Given the description of an element on the screen output the (x, y) to click on. 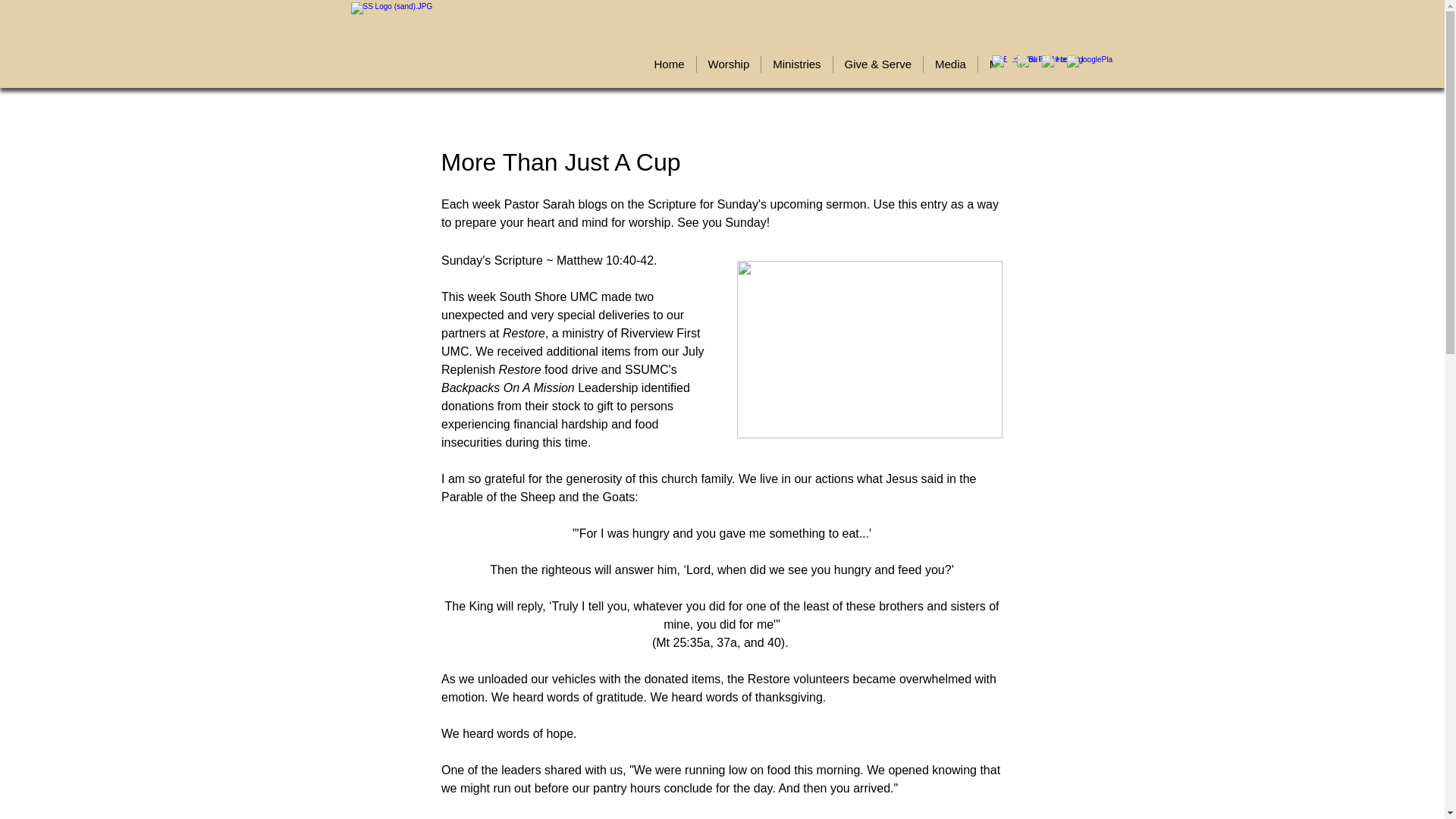
Log In (1040, 57)
Home (669, 64)
